Given the description of an element on the screen output the (x, y) to click on. 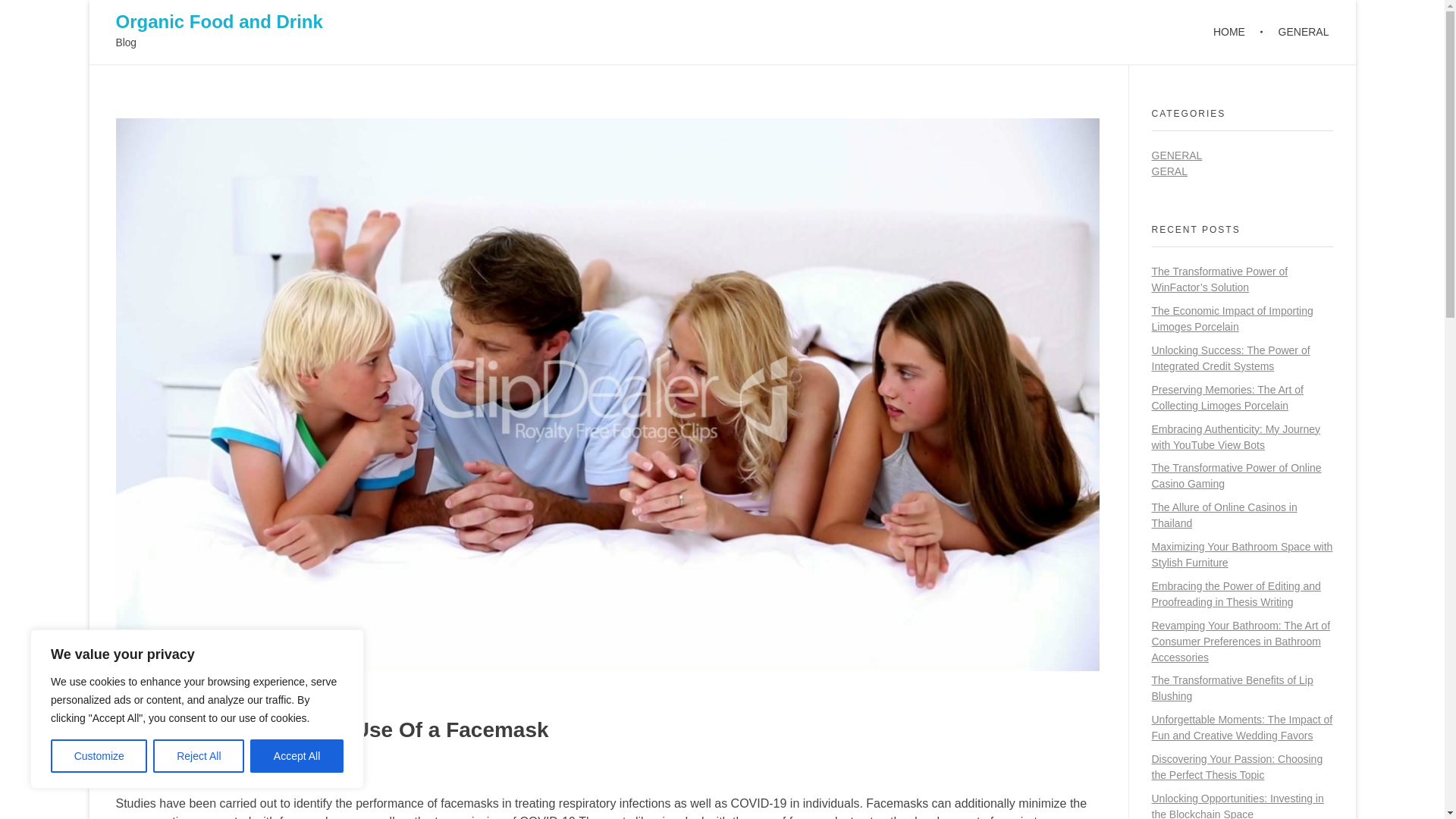
The Allure of Online Casinos in Thailand (1224, 515)
GENERAL (1295, 32)
Customize (98, 756)
Organic Food and Drink (218, 21)
Unlocking Success: The Power of Integrated Credit Systems (1229, 357)
General (276, 770)
Accept All (296, 756)
Reject All (198, 756)
The Economic Impact of Importing Limoges Porcelain (1232, 318)
Preserving Memories: The Art of Collecting Limoges Porcelain (1227, 397)
GENERAL (1176, 155)
View all posts in General (276, 770)
Embracing Authenticity: My Journey with YouTube View Bots (1235, 437)
GERAL (1168, 171)
Maximizing Your Bathroom Space with Stylish Furniture (1241, 554)
